Given the description of an element on the screen output the (x, y) to click on. 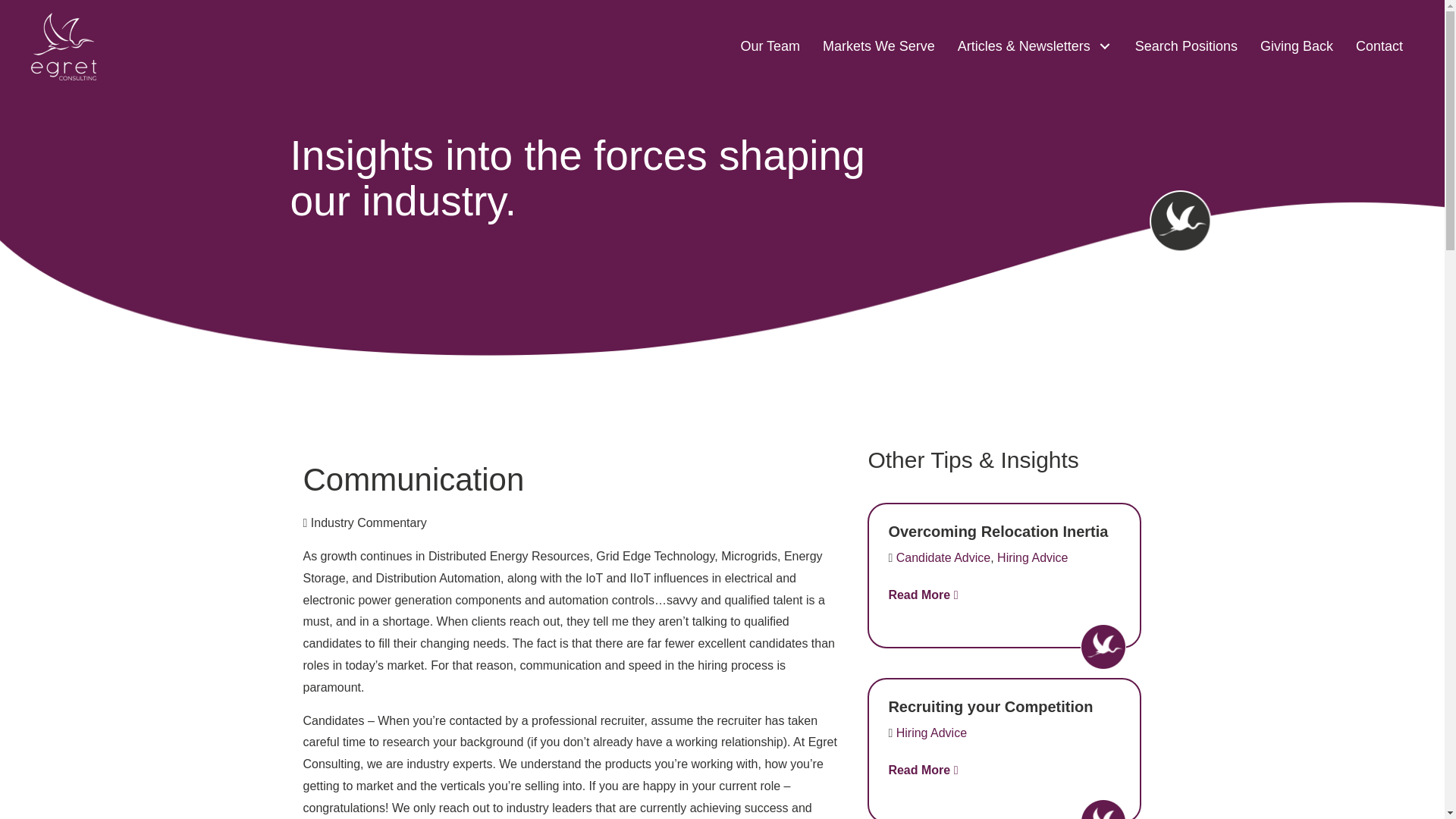
Markets We Serve (878, 46)
Read More (923, 769)
Recruiting your Competition (990, 706)
Egret Logo - White thick (63, 46)
Contact (1378, 46)
Overcoming Relocation Inertia (998, 531)
Our Team (769, 46)
Hiring Advice (931, 732)
Overcoming Relocation Inertia (998, 531)
Giving Back (1296, 46)
Recruiting your Competition (990, 706)
Search Positions (1186, 46)
Candidate Advice (943, 557)
Read More (923, 594)
Hiring Advice (1032, 557)
